Given the description of an element on the screen output the (x, y) to click on. 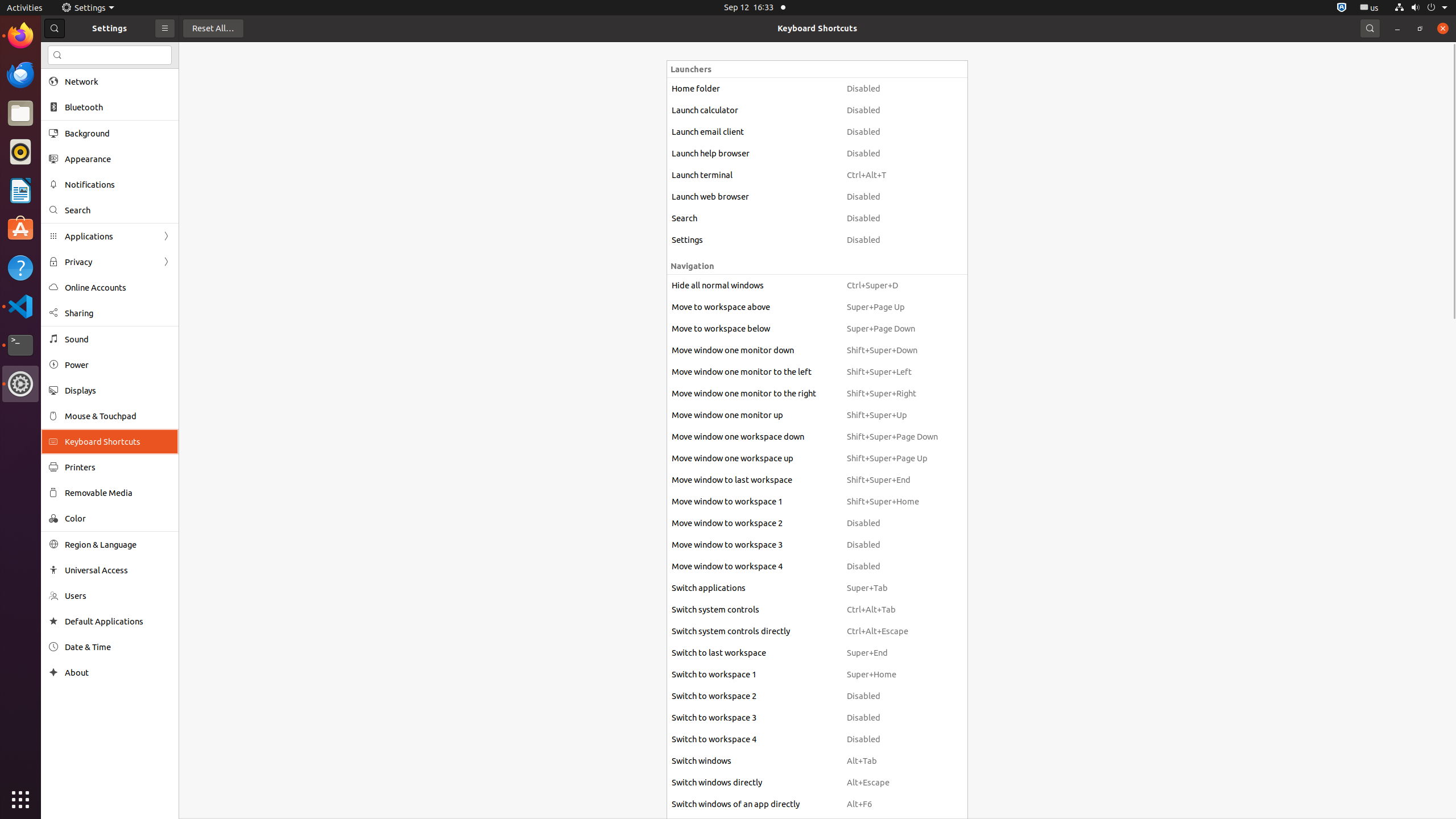
Restore Element type: push-button (1419, 27)
Ctrl+Super+D Element type: label (891, 285)
Switch applications Element type: label (753, 587)
li.txt Element type: label (146, 50)
